Given the description of an element on the screen output the (x, y) to click on. 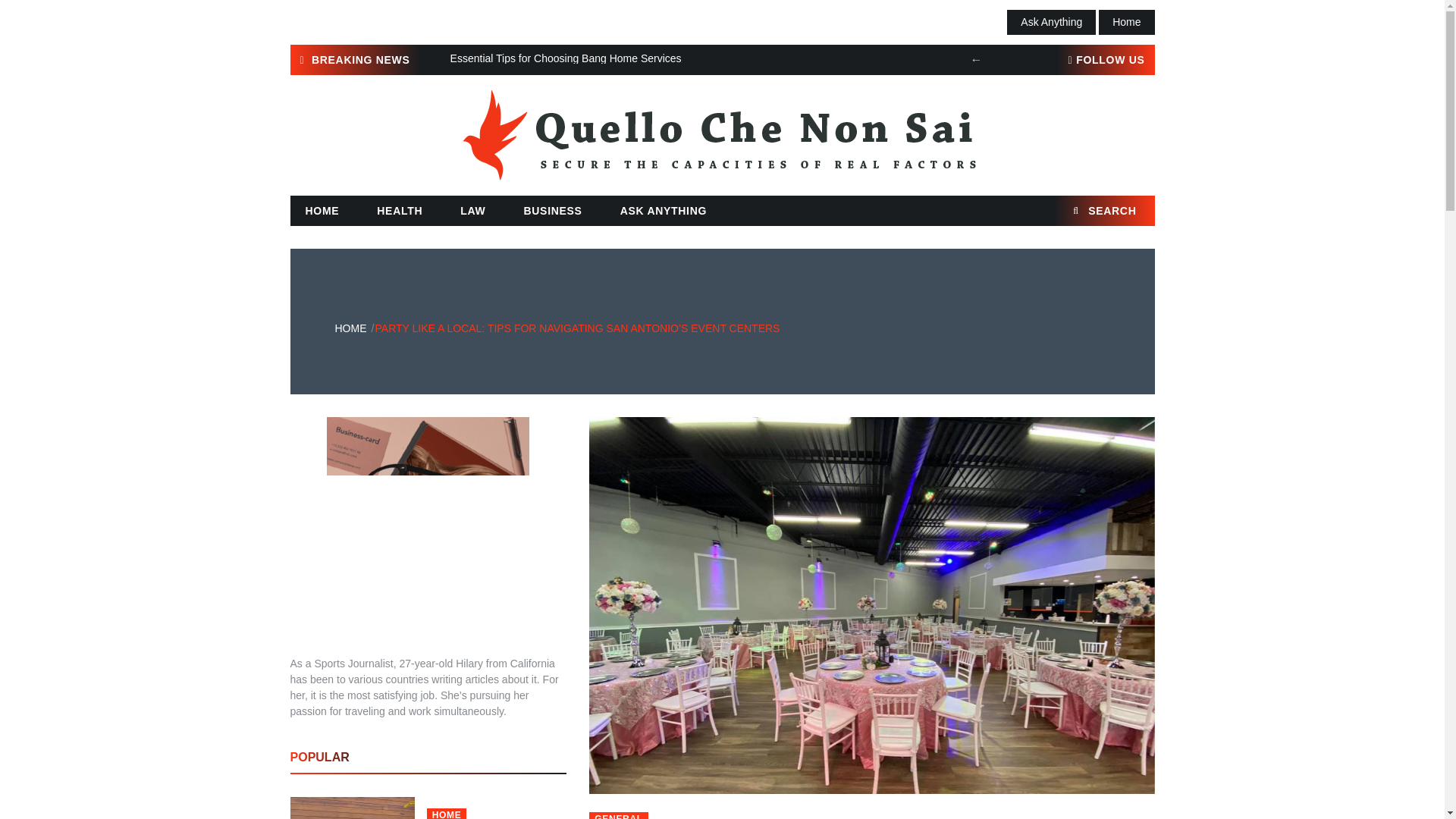
HOME (321, 210)
Home (1126, 22)
GENERAL (618, 815)
Search (1135, 210)
FOLLOW US (1106, 60)
SEARCH (1104, 210)
HOME (350, 328)
ASK ANYTHING (663, 210)
BUSINESS (552, 210)
Search (1135, 210)
Search (1135, 210)
PREVIOUS (976, 59)
HOME (446, 813)
HEALTH (399, 210)
LAW (472, 210)
